Given the description of an element on the screen output the (x, y) to click on. 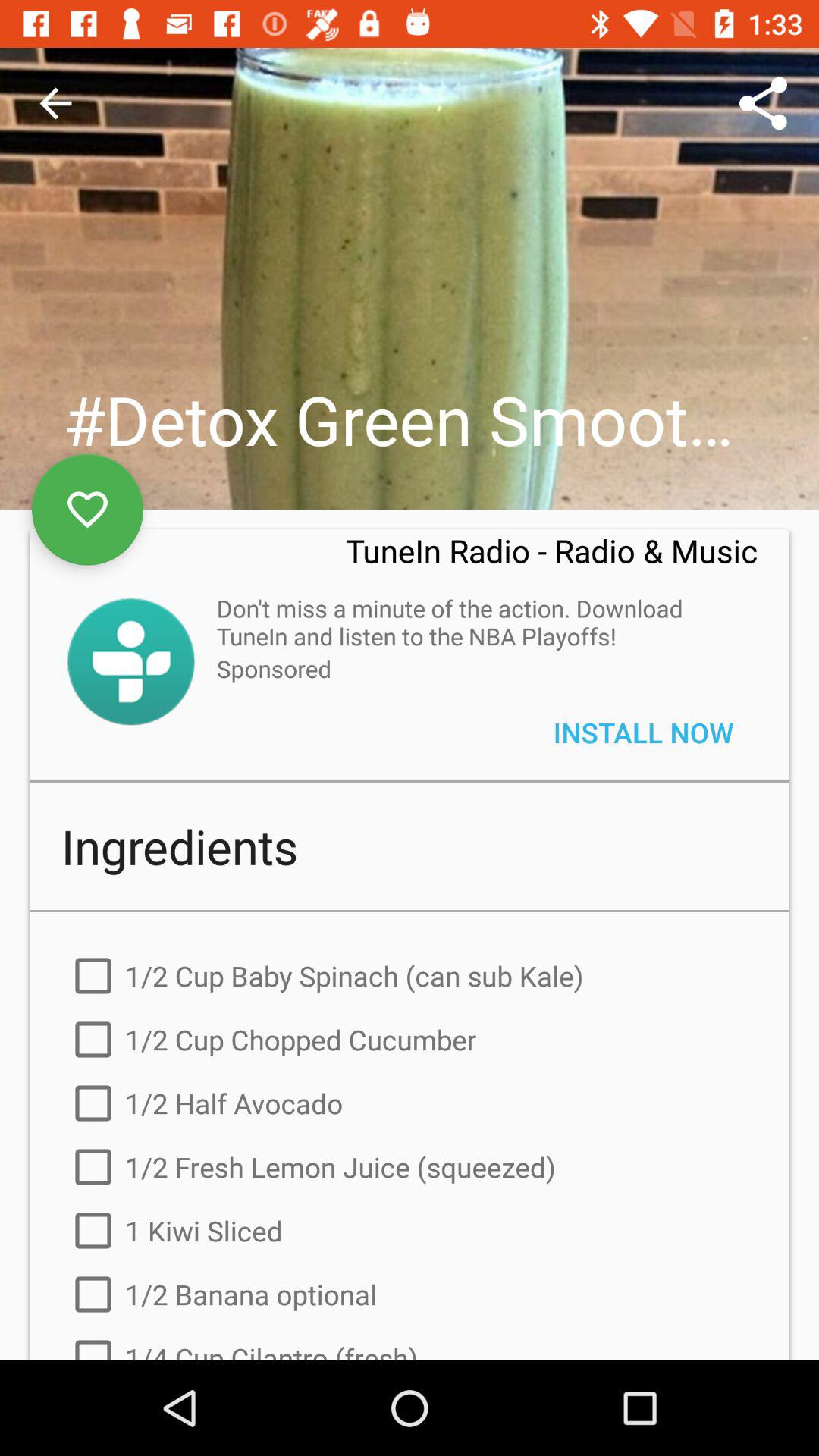
select the icon above the tunein radio radio (763, 103)
